Given the description of an element on the screen output the (x, y) to click on. 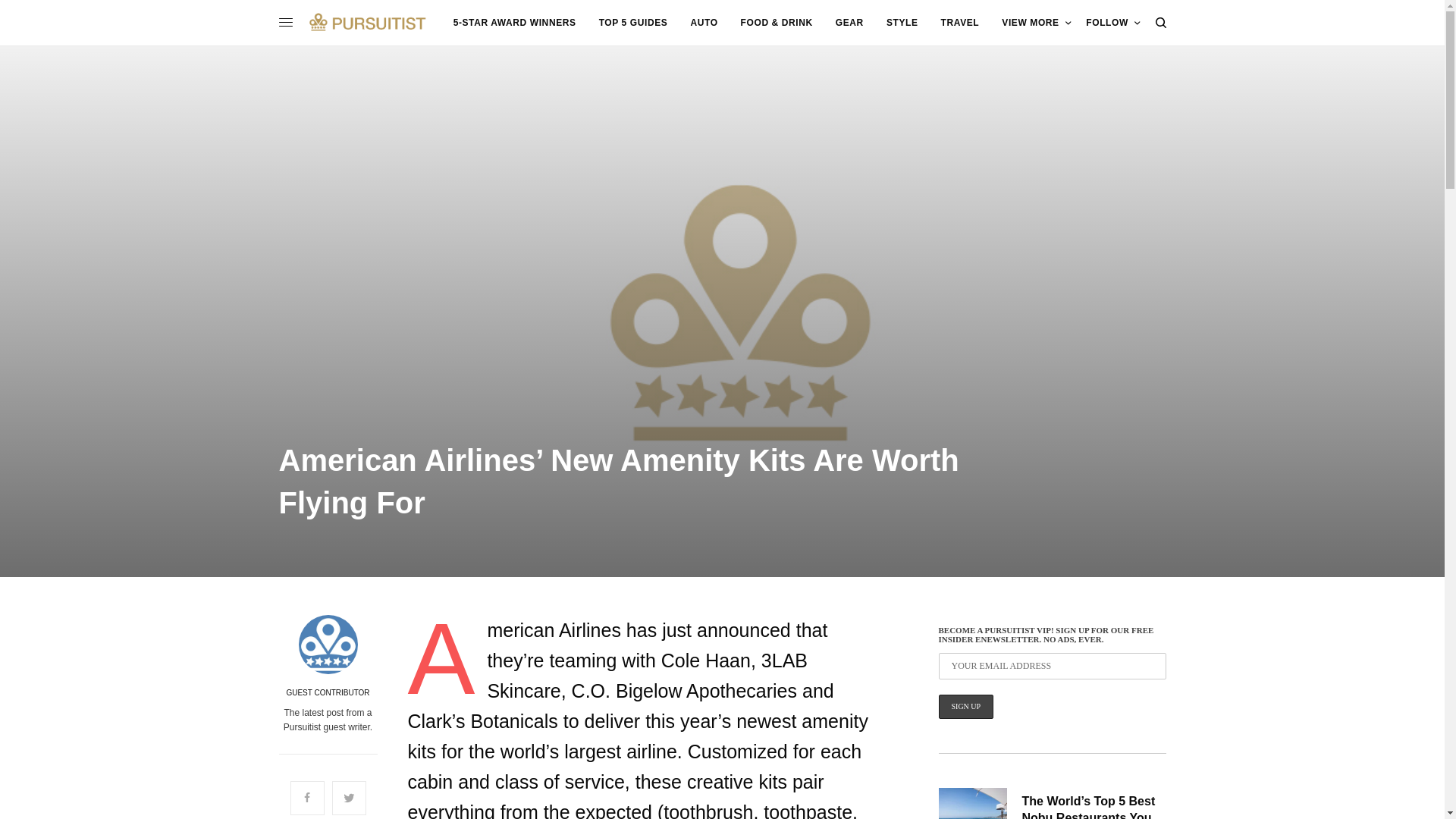
TOP 5 GUIDES (633, 22)
Pursuitist (366, 22)
VIEW MORE (1035, 22)
5-STAR AWARD WINNERS (514, 22)
5-Star Pursuits (514, 22)
GUEST CONTRIBUTOR (328, 692)
FOLLOW (1113, 22)
Sign up (966, 706)
